Given the description of an element on the screen output the (x, y) to click on. 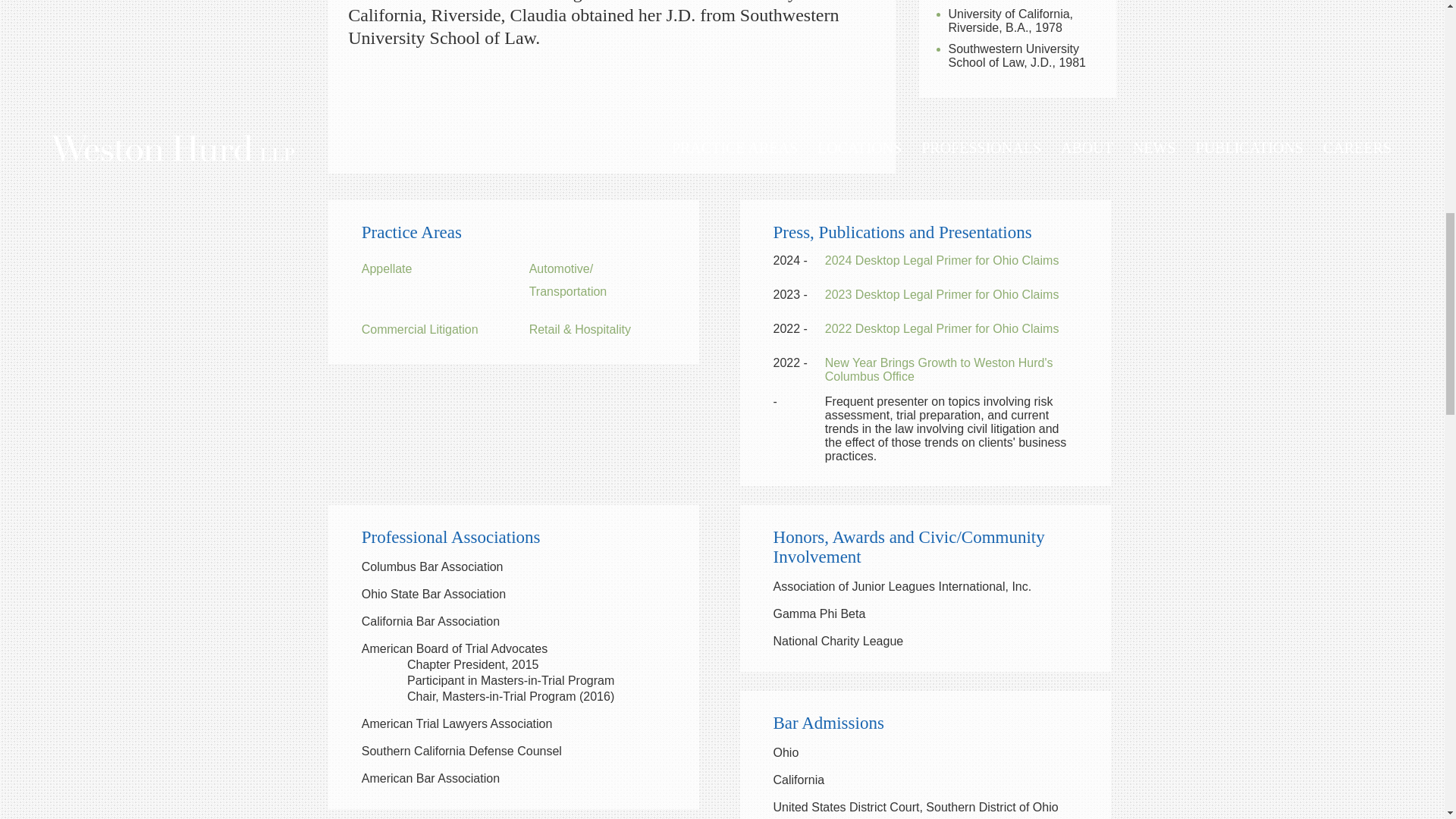
New Year Brings Growth to Weston Hurd's Columbus Office (938, 369)
Commercial Litigation (420, 328)
2022 Desktop Legal Primer for Ohio Claims (942, 328)
Appellate (386, 268)
2023 Desktop Legal Primer for Ohio Claims (942, 294)
2024 Desktop Legal Primer for Ohio Claims (942, 259)
